Given the description of an element on the screen output the (x, y) to click on. 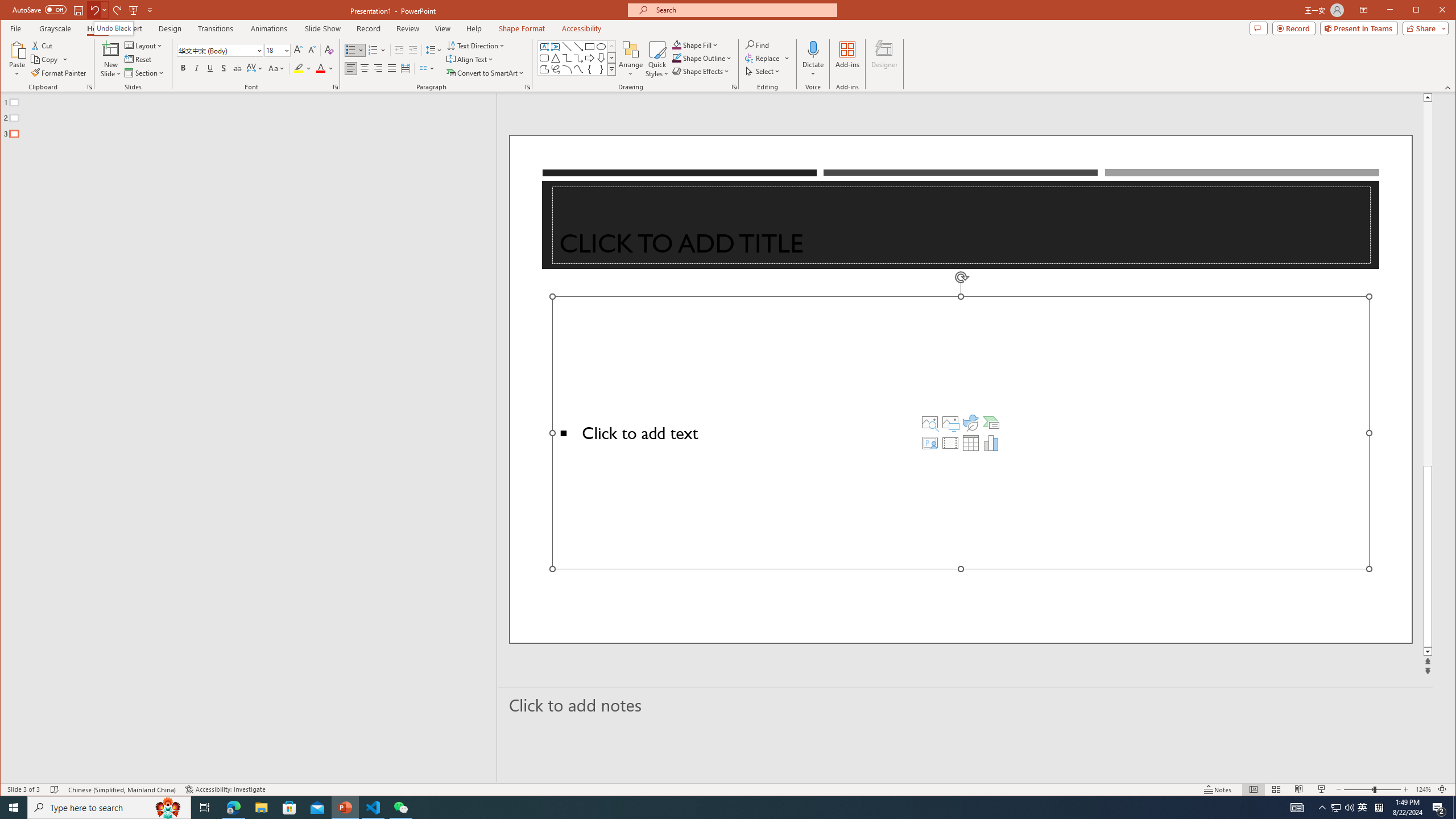
Freeform: Scribble (556, 69)
PowerPoint - 1 running window (345, 807)
Row up (611, 46)
Decrease Indent (399, 49)
Spell Check No Errors (55, 789)
Text Direction (476, 45)
Undo Black (113, 28)
Shapes (611, 69)
Oval (1335, 807)
Notification Chevron (601, 46)
Font (1322, 807)
Line (219, 49)
Clear Formatting (567, 46)
